Given the description of an element on the screen output the (x, y) to click on. 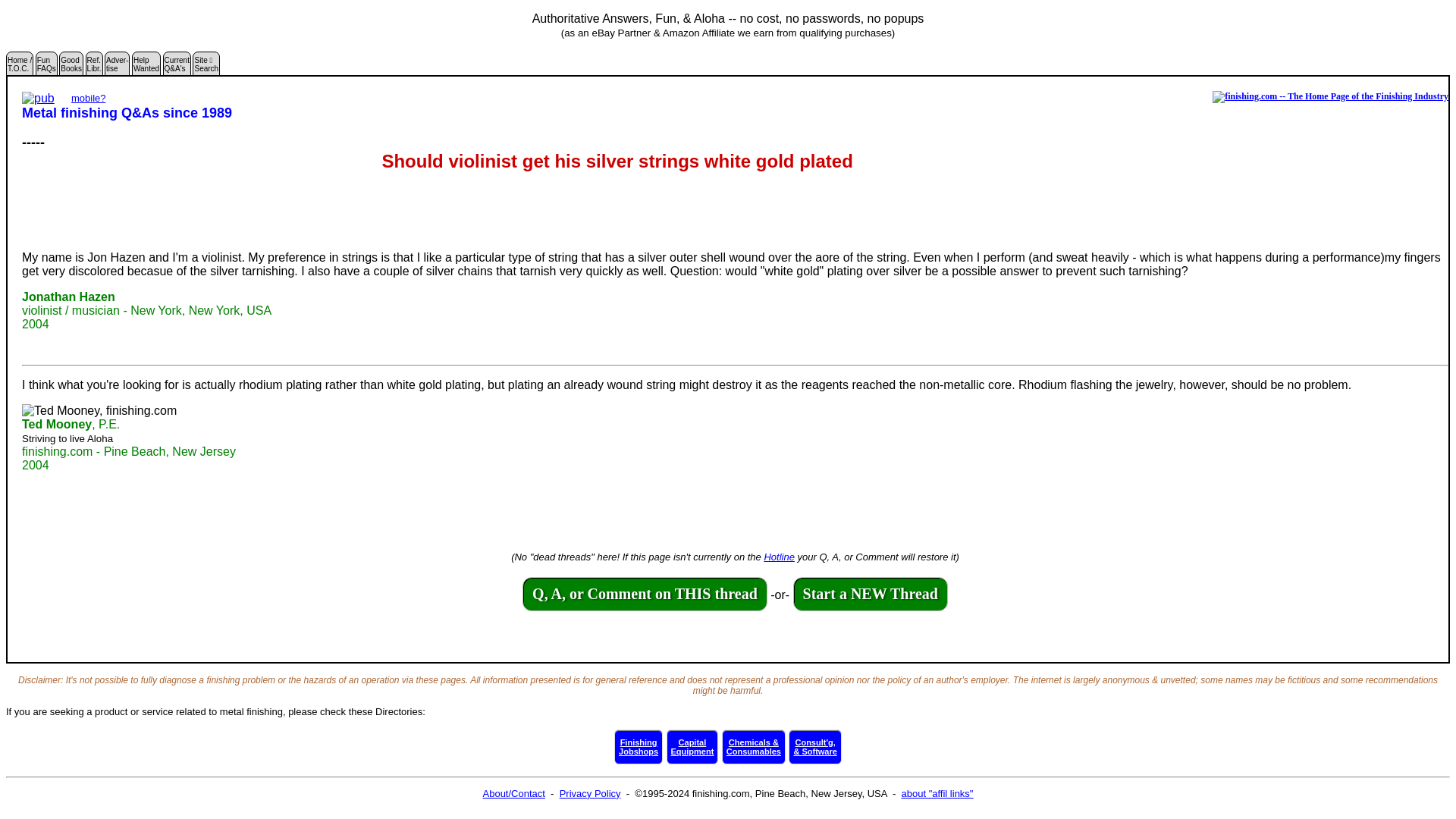
Search the site (205, 66)
Recommended metal finishing books (70, 66)
On-line library of metal finishing articles (94, 66)
Hotline (777, 556)
Q, A, or Comment on THIS thread (46, 66)
Advertise on the world's premier metal finishing site (692, 746)
mobile? (644, 594)
